Given the description of an element on the screen output the (x, y) to click on. 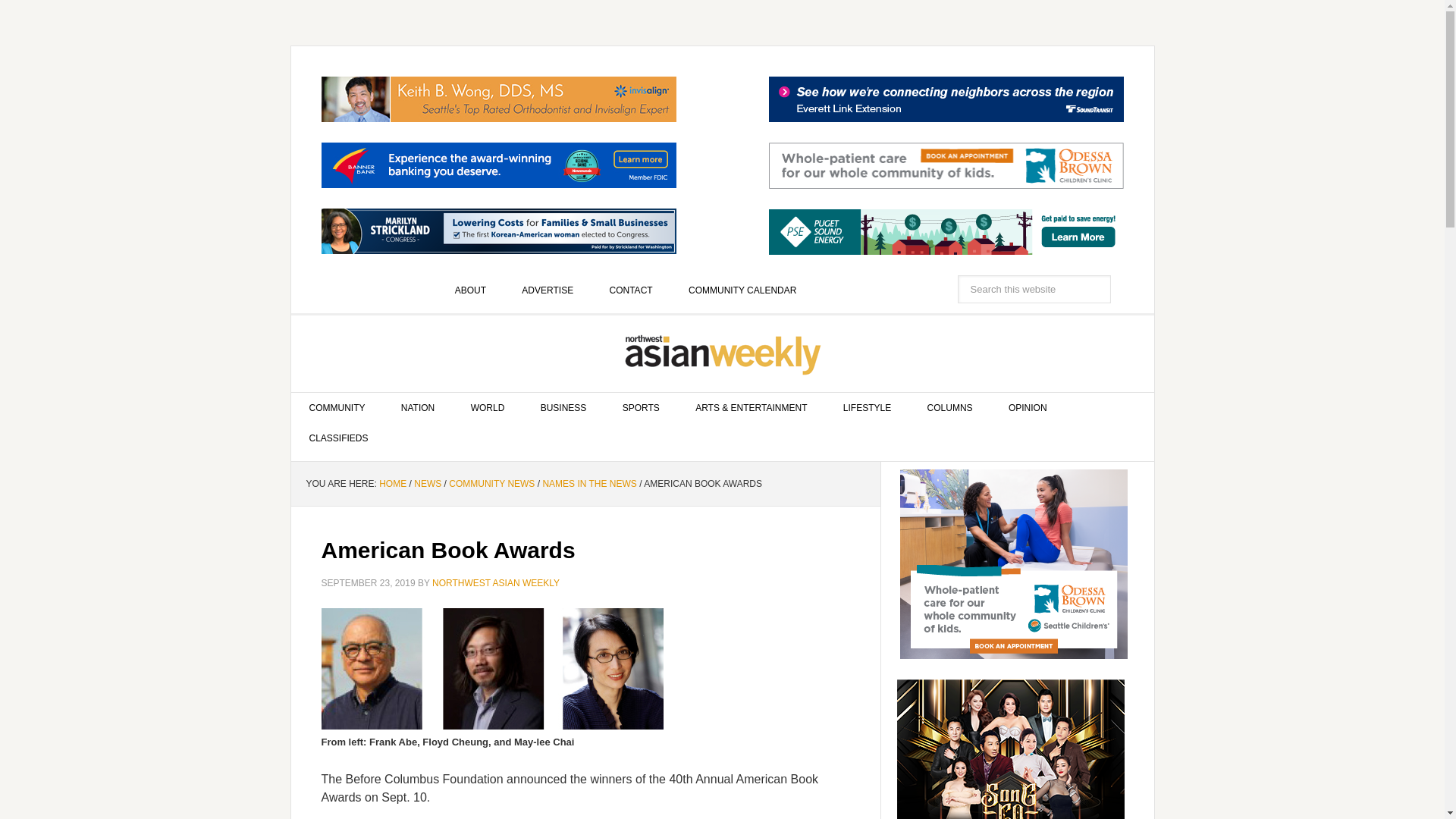
OPINION (1027, 408)
BUSINESS (563, 408)
NATION (417, 408)
NORTHWEST ASIAN WEEKLY (722, 353)
COMMUNITY (337, 408)
CONTACT (631, 290)
LIFESTYLE (866, 408)
COLUMNS (949, 408)
